Given the description of an element on the screen output the (x, y) to click on. 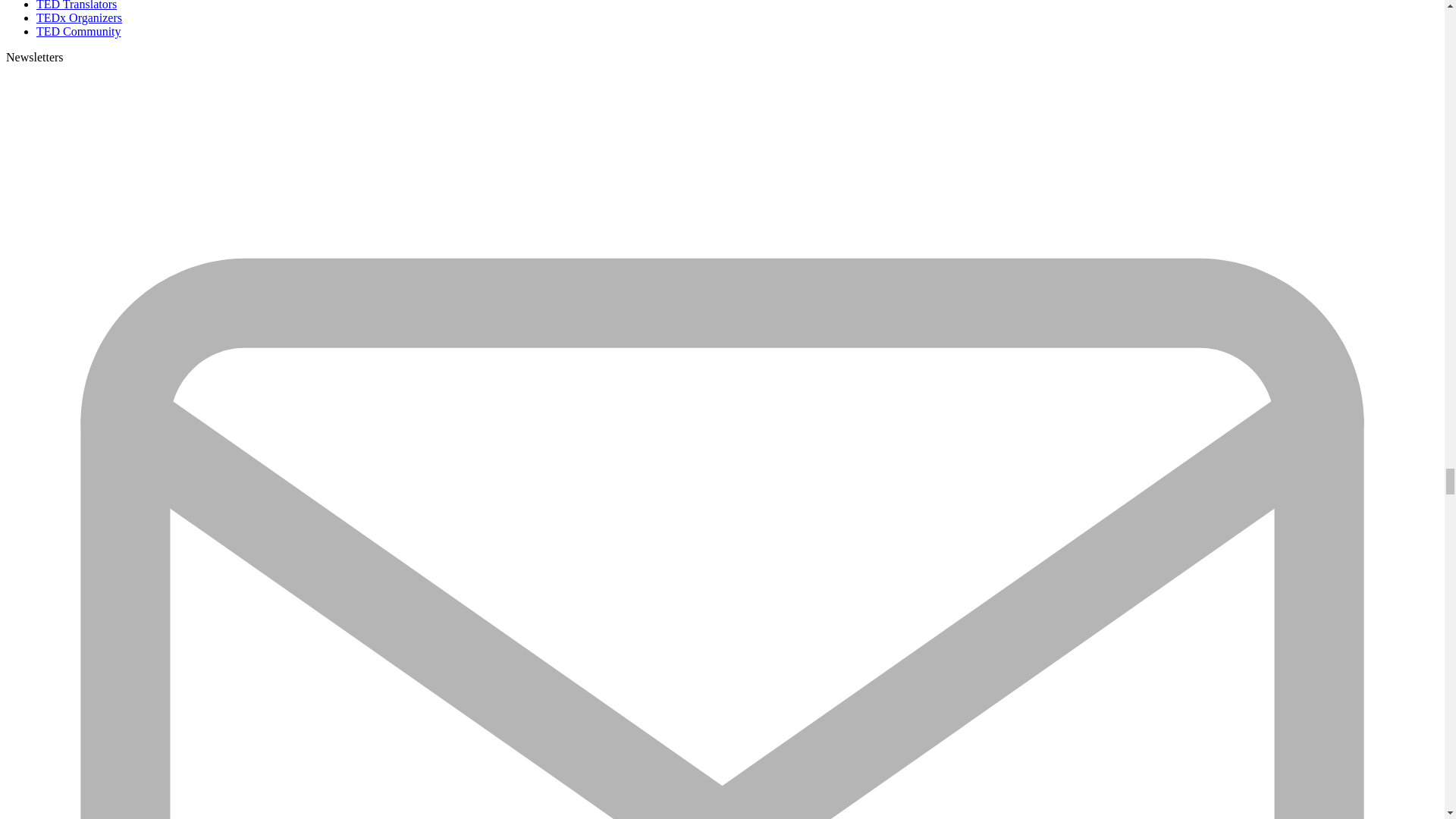
TED Translators (76, 5)
TEDx Organizers (79, 17)
TED Community (78, 31)
